Given the description of an element on the screen output the (x, y) to click on. 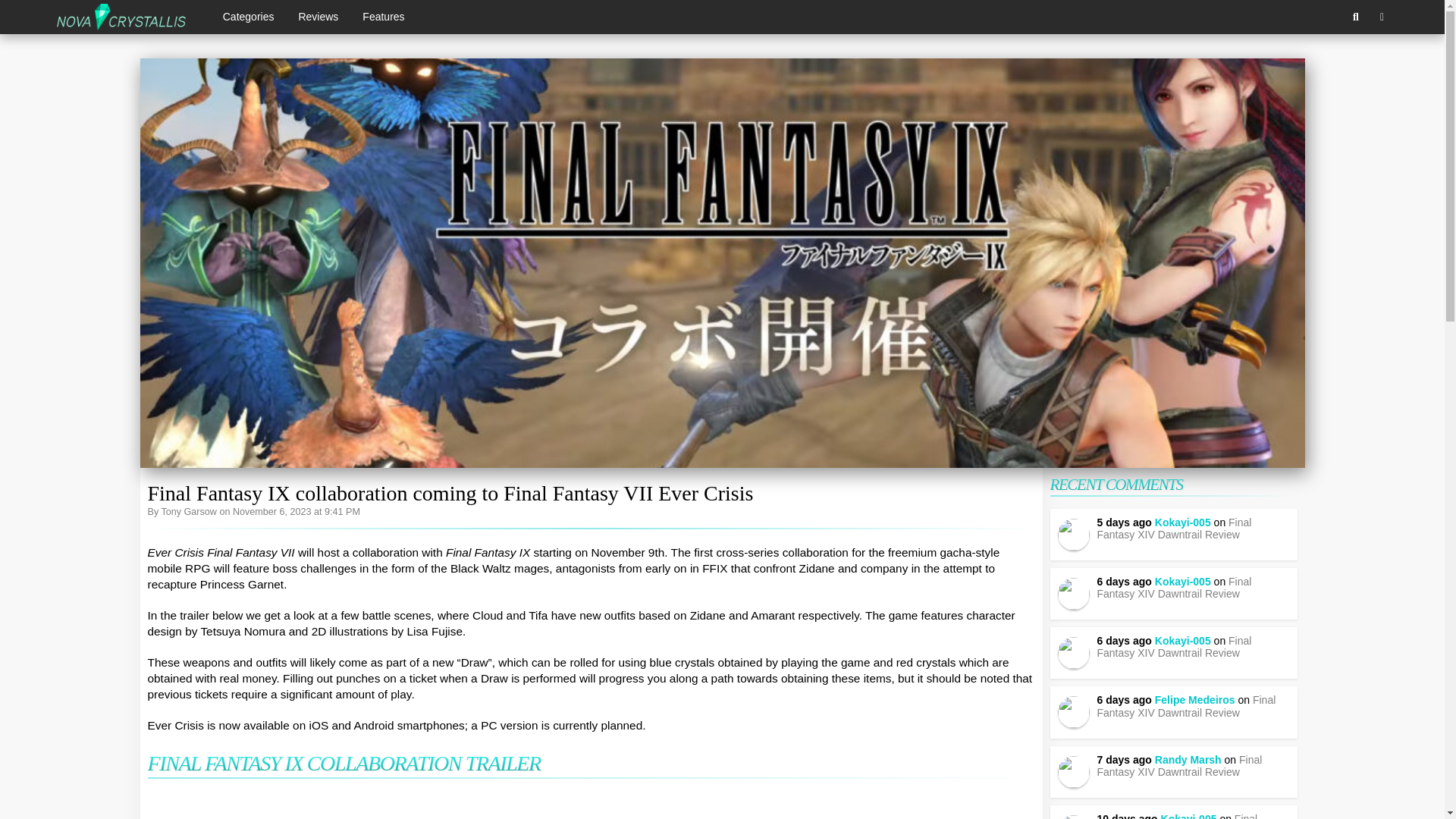
Final Fantasy XIV Dawntrail Review (1173, 528)
Categories (248, 17)
6 days ago (1125, 581)
Kokayi-005 (1182, 581)
5 days ago (1125, 522)
YouTube video player (590, 804)
Reviews (317, 17)
6 days ago (1125, 640)
Final Fantasy XIV Dawntrail Review (1173, 587)
Features (383, 17)
